Given the description of an element on the screen output the (x, y) to click on. 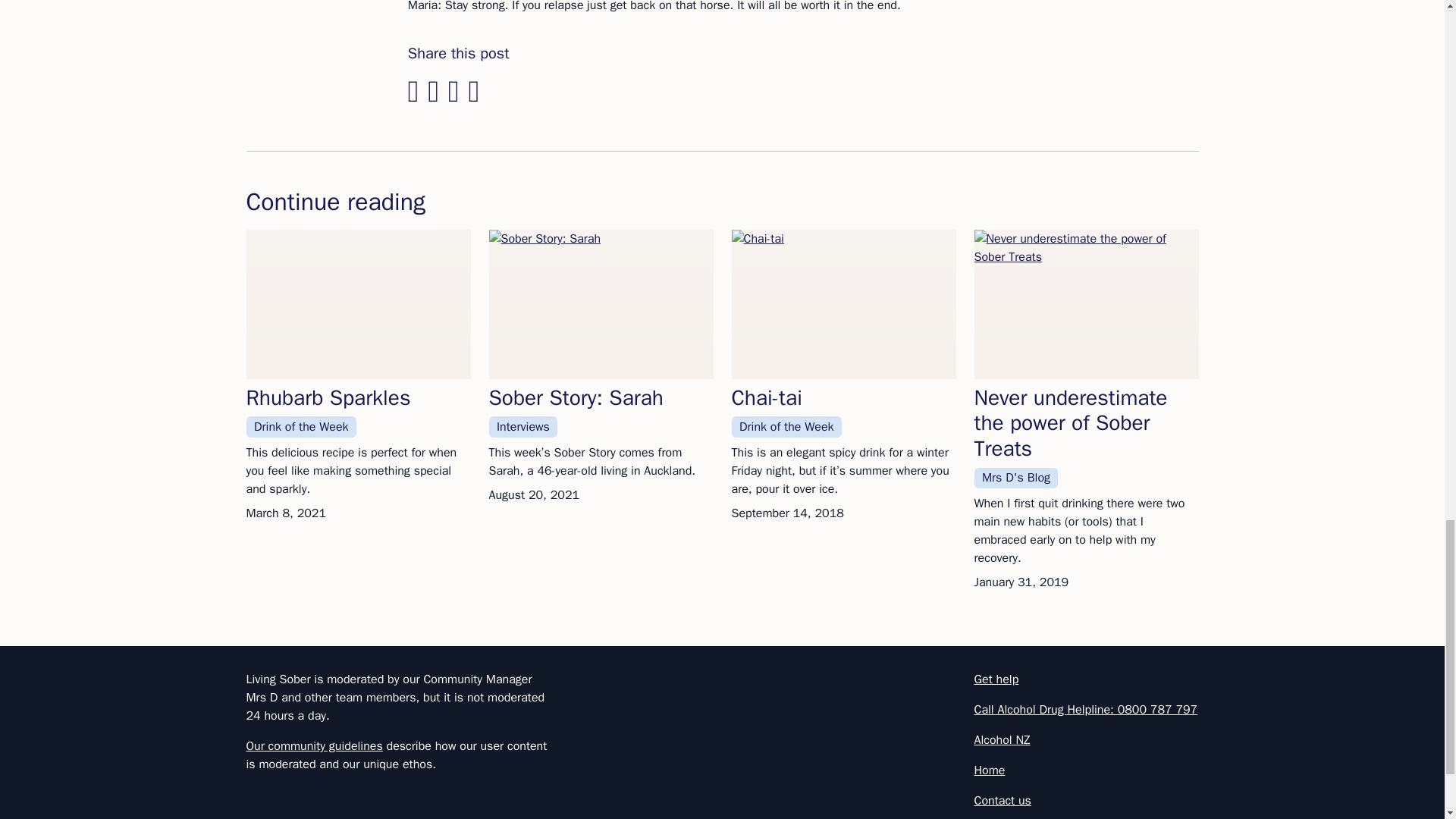
Drink of the Week (785, 426)
Rhubarb Sparkles (328, 397)
Get help (995, 679)
Contact us (1002, 800)
Interviews (522, 426)
Never underestimate the power of Sober Treats (1070, 422)
Drink of the Week (300, 426)
Alcohol NZ (1001, 739)
Chai-tai (766, 397)
Call Alcohol Drug Helpline: 0800 787 797 (1085, 709)
